Given the description of an element on the screen output the (x, y) to click on. 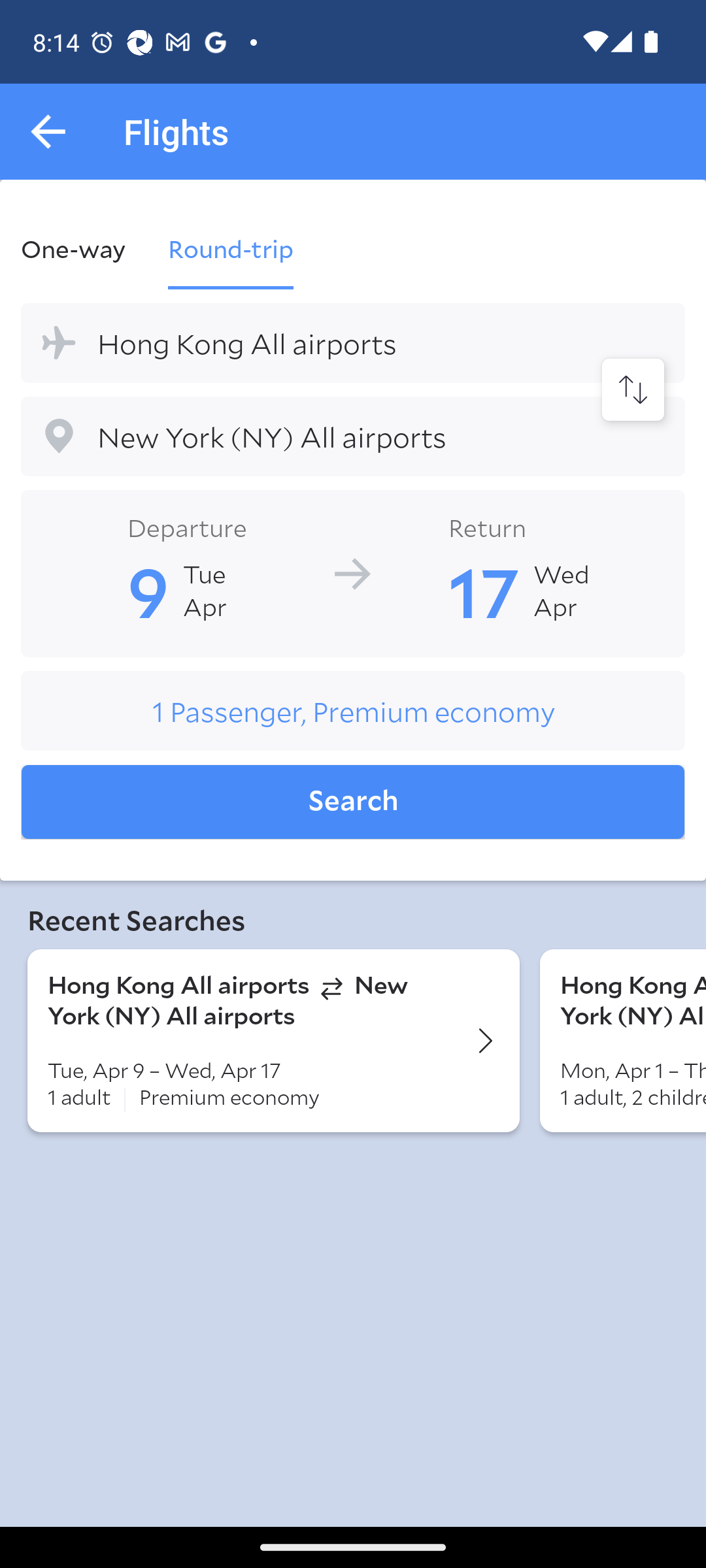
One-way (83, 248)
Hong Kong All airports (352, 342)
New York (NY) All airports (352, 436)
Departure 9 Tue Apr Return 17 Wed Apr (352, 572)
1 Passenger, Premium economy (352, 711)
Search  Search (352, 801)
